Given the description of an element on the screen output the (x, y) to click on. 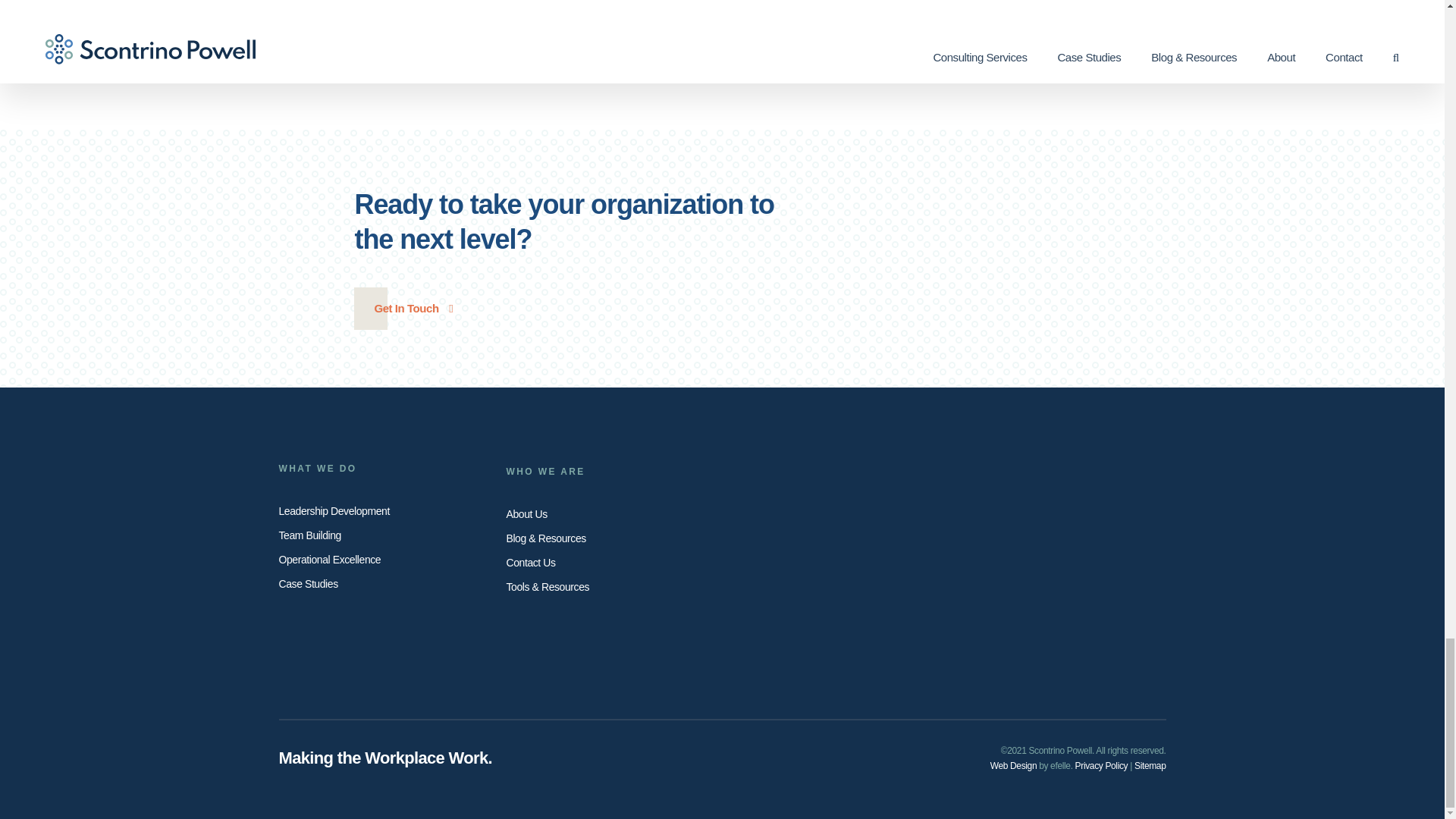
WHAT WE DO (381, 468)
Team Building (381, 535)
Get In Touch (412, 308)
Leadership Development (381, 510)
